Given the description of an element on the screen output the (x, y) to click on. 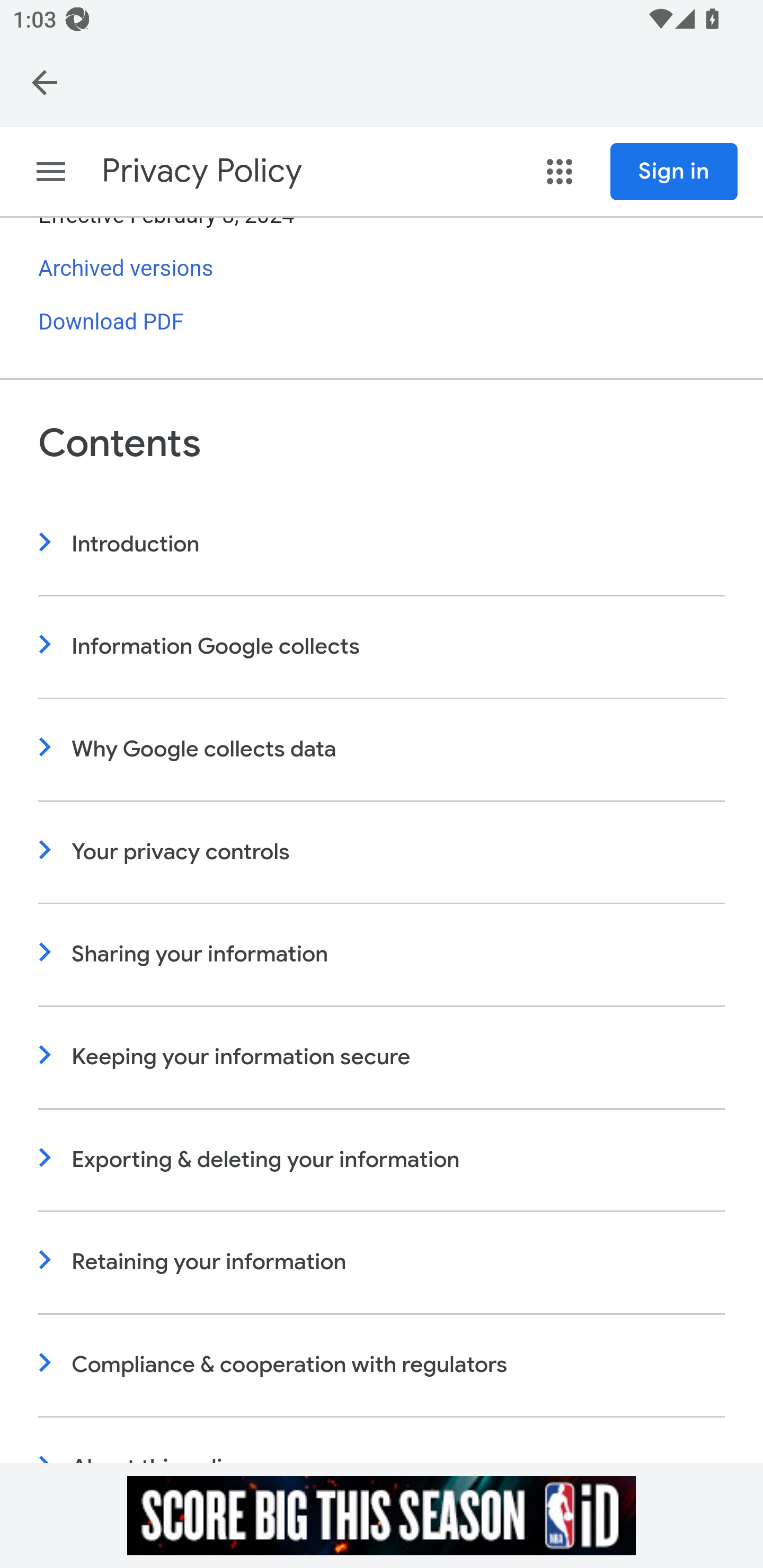
Navigate up (44, 82)
Main menu (50, 172)
Google apps (559, 172)
Sign in (673, 172)
Archived versions (126, 269)
Download PDF (111, 323)
Introduction (381, 545)
Information Google collects (381, 648)
Why Google collects data (381, 750)
Your privacy controls (381, 853)
Sharing your information (381, 956)
Keeping your information secure (381, 1058)
Exporting & deleting your information (381, 1160)
Retaining your information (381, 1263)
Compliance & cooperation with regulators (381, 1366)
